Given the description of an element on the screen output the (x, y) to click on. 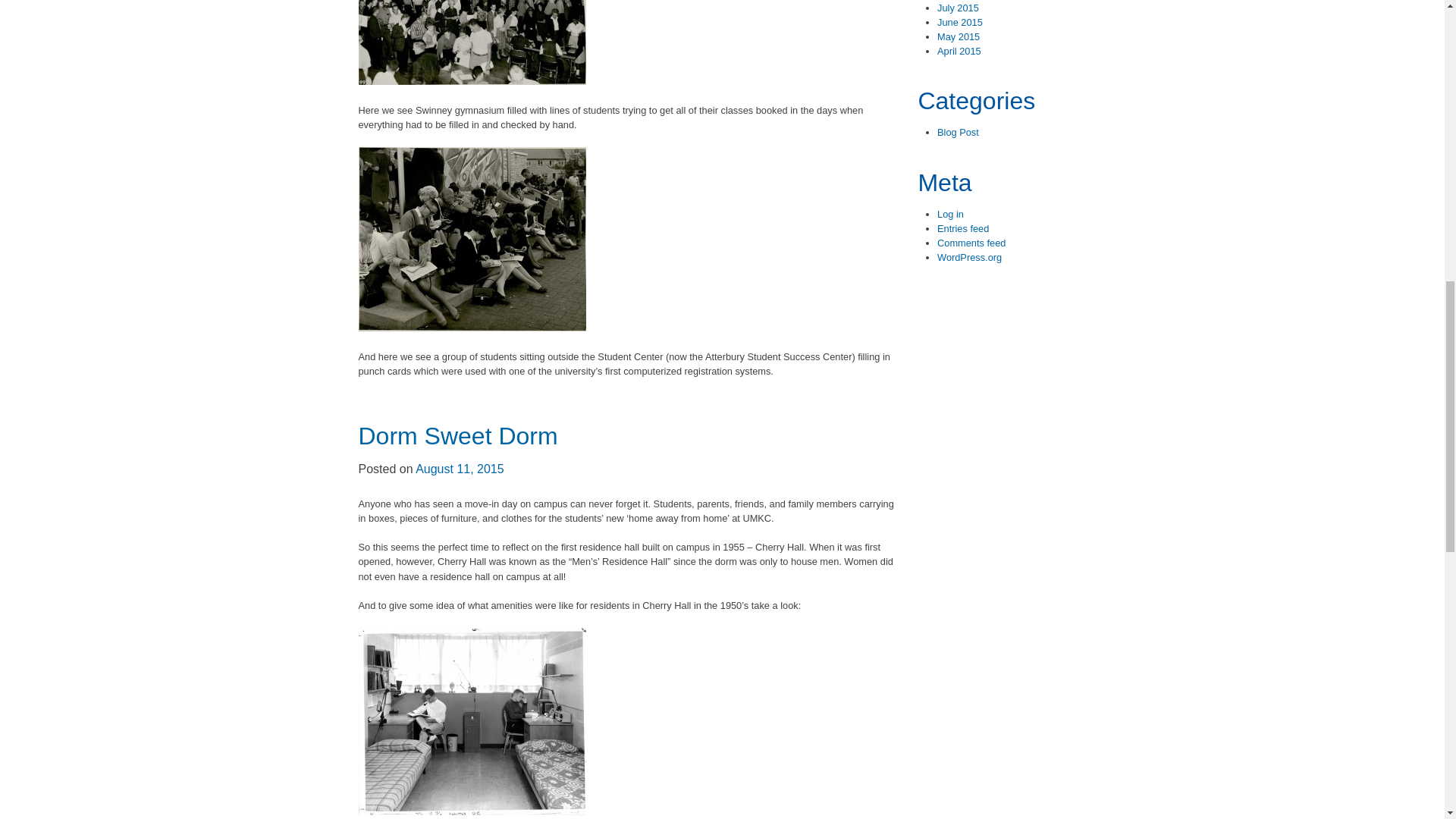
August 11, 2015 (458, 468)
Dorm Sweet Dorm (457, 435)
